Given the description of an element on the screen output the (x, y) to click on. 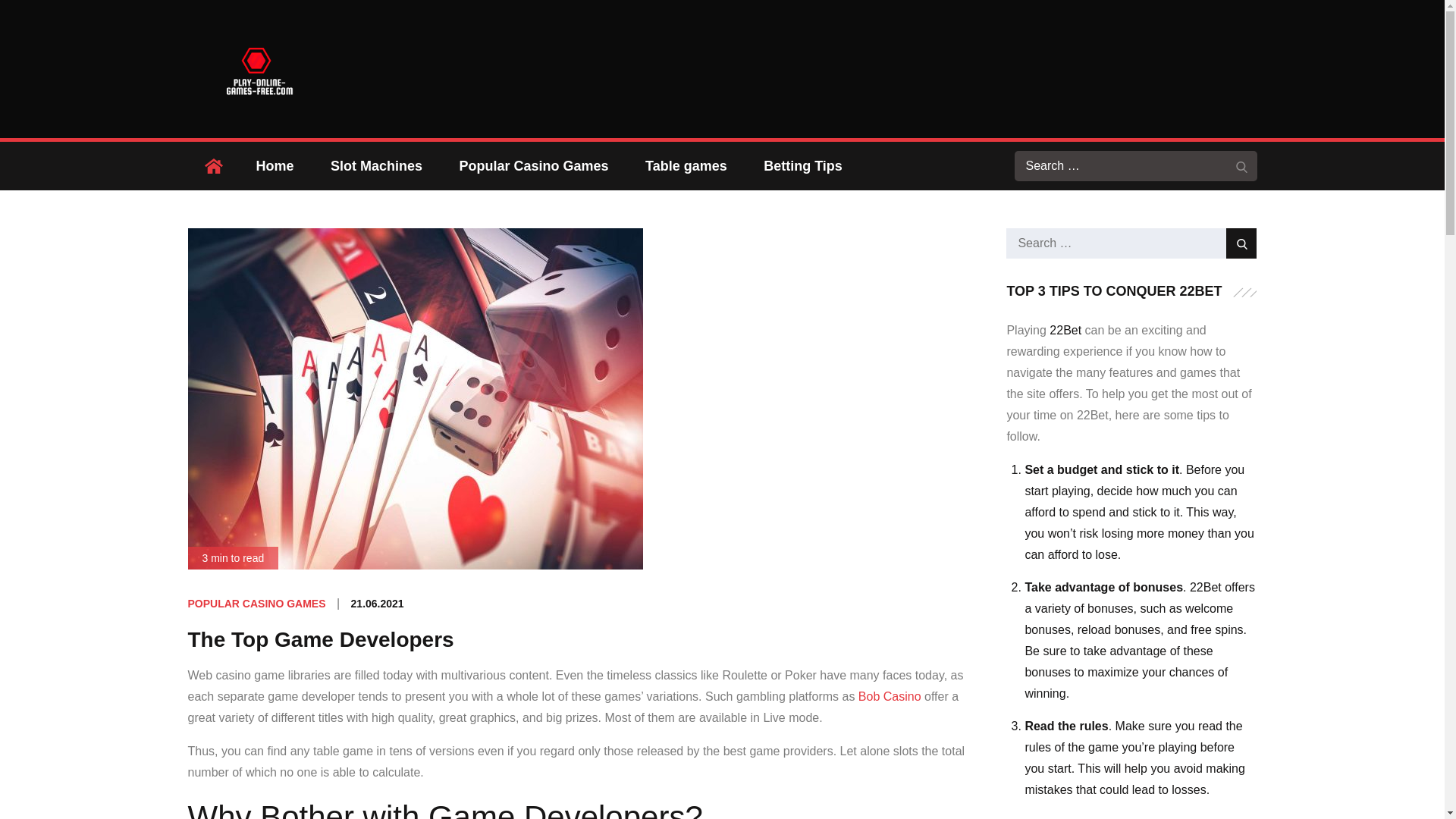
Bob Casino (890, 696)
Home (275, 165)
22Bet (1065, 330)
Popular Casino Games (533, 165)
Search (1240, 243)
Search (1242, 165)
POPULAR CASINO GAMES (256, 603)
Betting Tips (802, 165)
Slot Machines (376, 165)
